Given the description of an element on the screen output the (x, y) to click on. 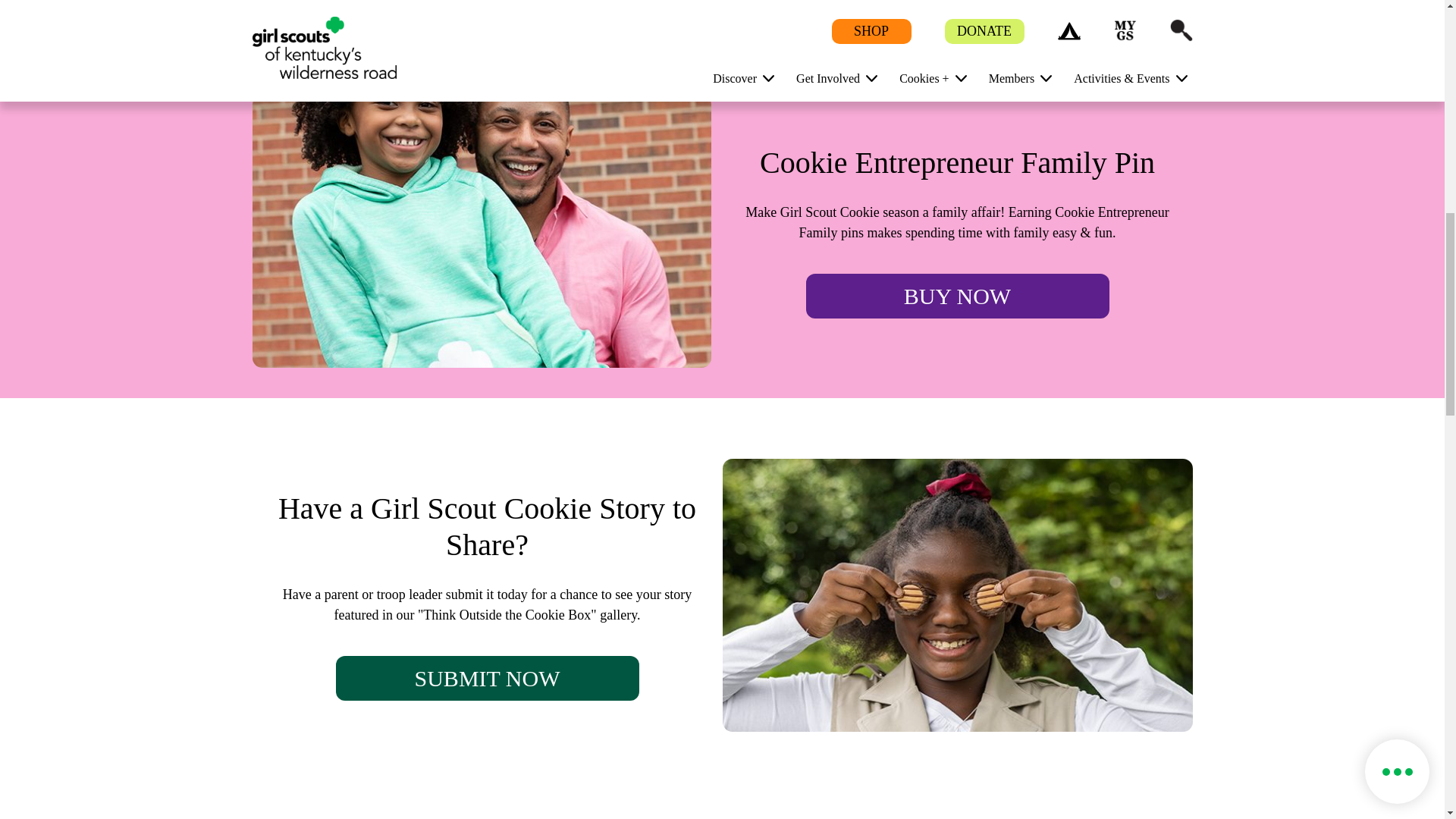
Have a Girl Scout Cookie Story to Share? (957, 595)
Submit Now (486, 678)
Cookie Entrepreneur Family Pin (480, 231)
Buy Now (956, 295)
